Given the description of an element on the screen output the (x, y) to click on. 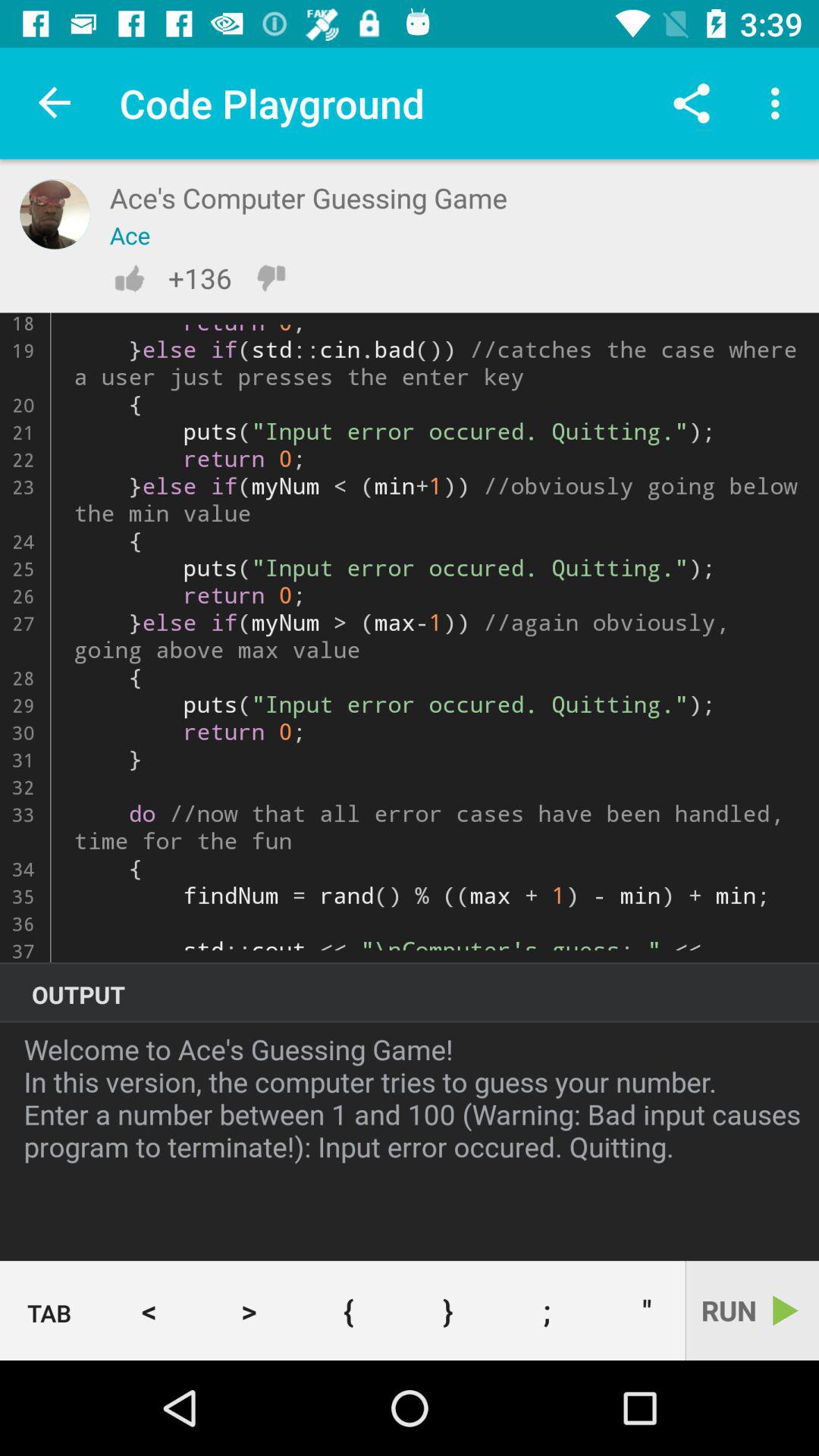
press the item next to the +136 (129, 277)
